Given the description of an element on the screen output the (x, y) to click on. 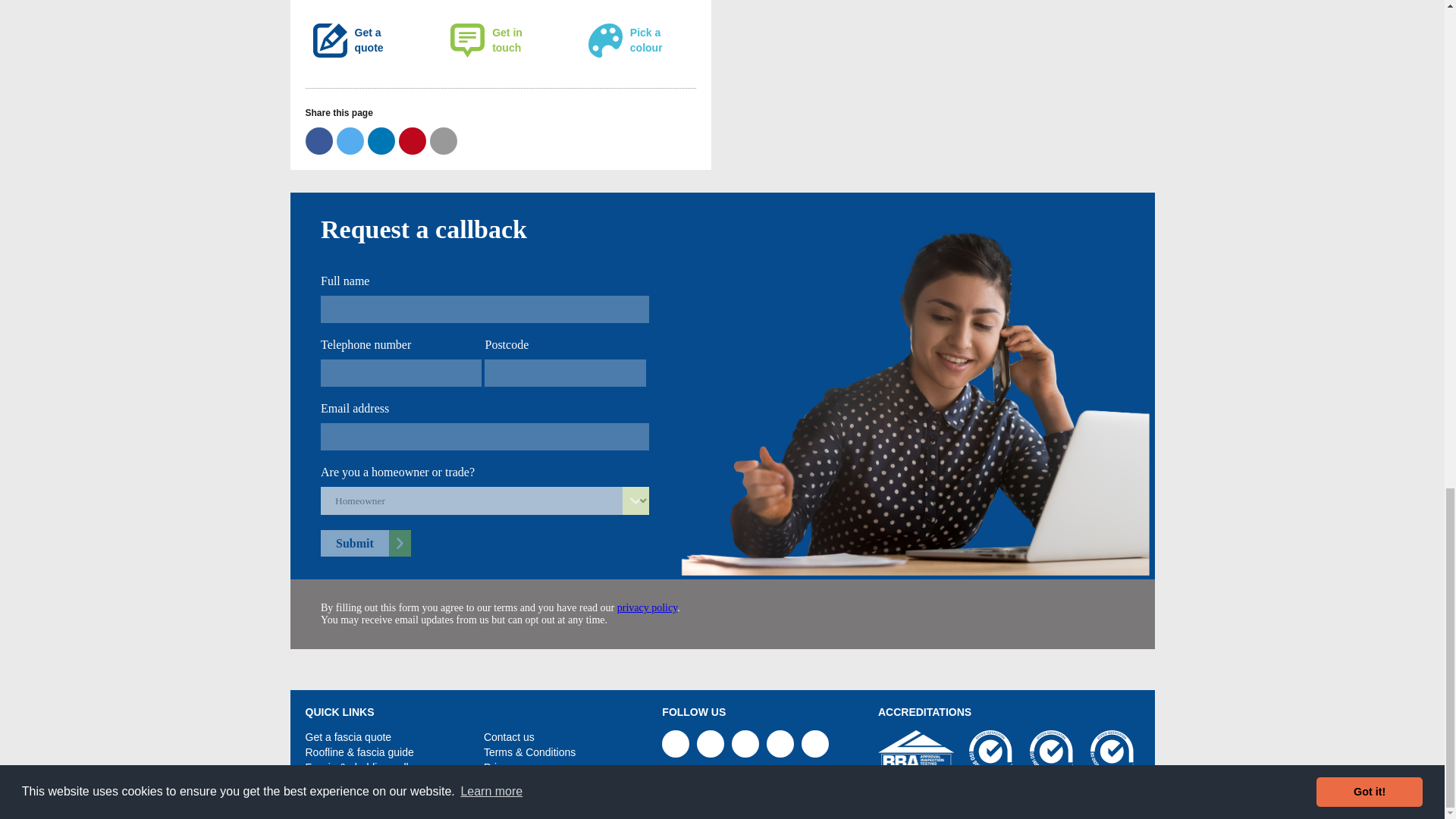
Share on Pinterest (412, 140)
Share by email (443, 140)
Share on LinkedIn (380, 140)
View our Instagram Photos (780, 743)
Follow us on Pinterest (675, 743)
Share on Twitter (350, 140)
Follow us on Facebook (710, 743)
View our YouTube videos (815, 743)
Share on Facebook (317, 140)
Follow us on Twitter (745, 743)
